Given the description of an element on the screen output the (x, y) to click on. 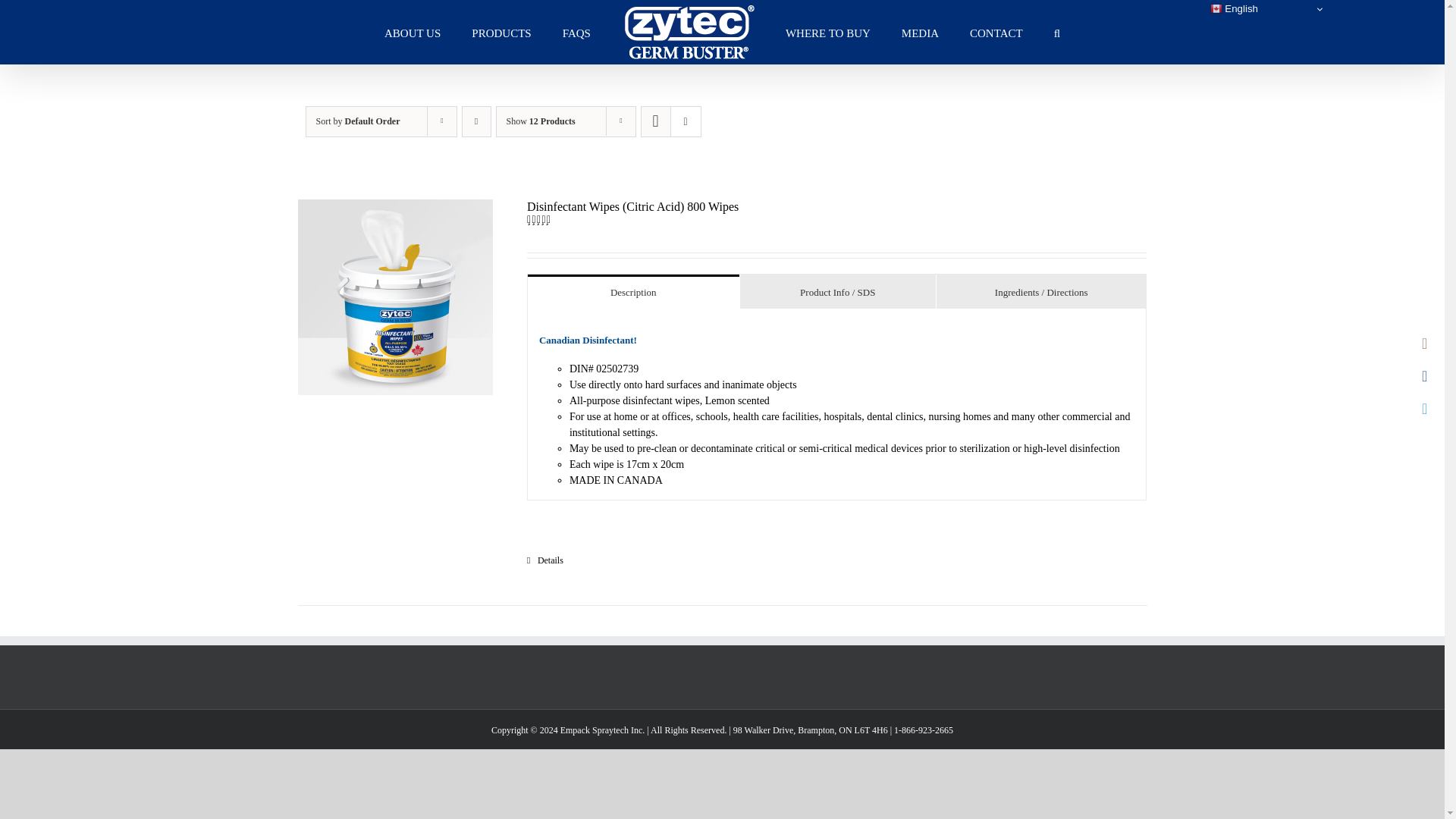
PRODUCTS (501, 31)
WHERE TO BUY (828, 31)
